Given the description of an element on the screen output the (x, y) to click on. 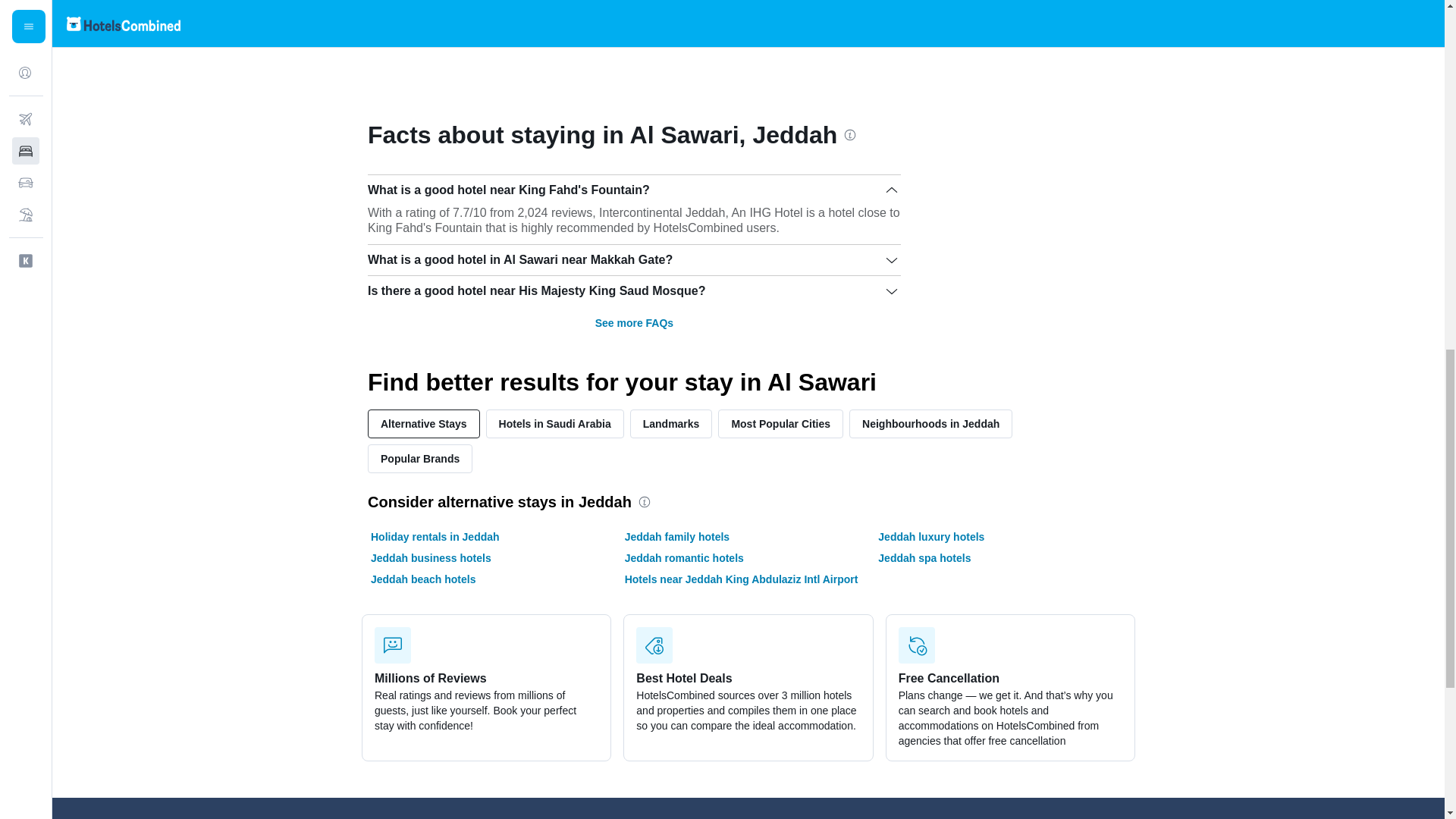
Jeddah spa hotels (924, 557)
Hotels in Saudi Arabia (555, 423)
Landmarks (671, 423)
Jeddah luxury hotels (930, 536)
Jeddah family hotels (676, 536)
Most Popular Cities (780, 423)
Holiday rentals in Jeddah (435, 536)
Hotels near Jeddah King Abdulaziz Intl Airport (741, 579)
Home (373, 22)
Jeddah Hotels (665, 22)
